Given the description of an element on the screen output the (x, y) to click on. 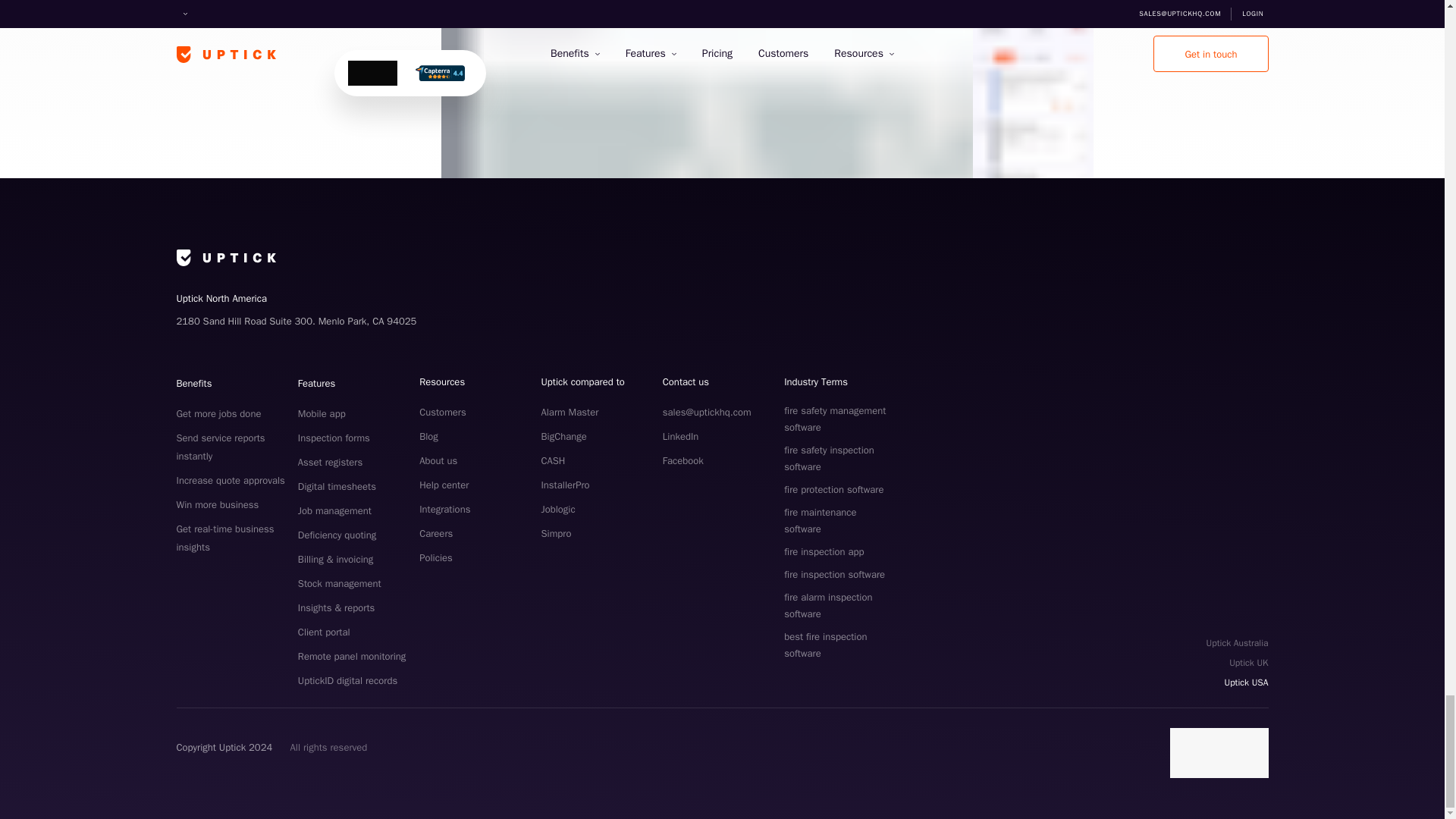
Features (316, 382)
Switch to our Uptick Australia site (1237, 642)
Switch to our Uptick USA site (1237, 682)
Send service reports instantly (220, 446)
Benefits (193, 382)
Win more business (217, 504)
Switch to our Uptick UK site (1237, 662)
Get more jobs done (218, 413)
Get real-time business insights (224, 537)
Increase quote approvals (229, 480)
